Given the description of an element on the screen output the (x, y) to click on. 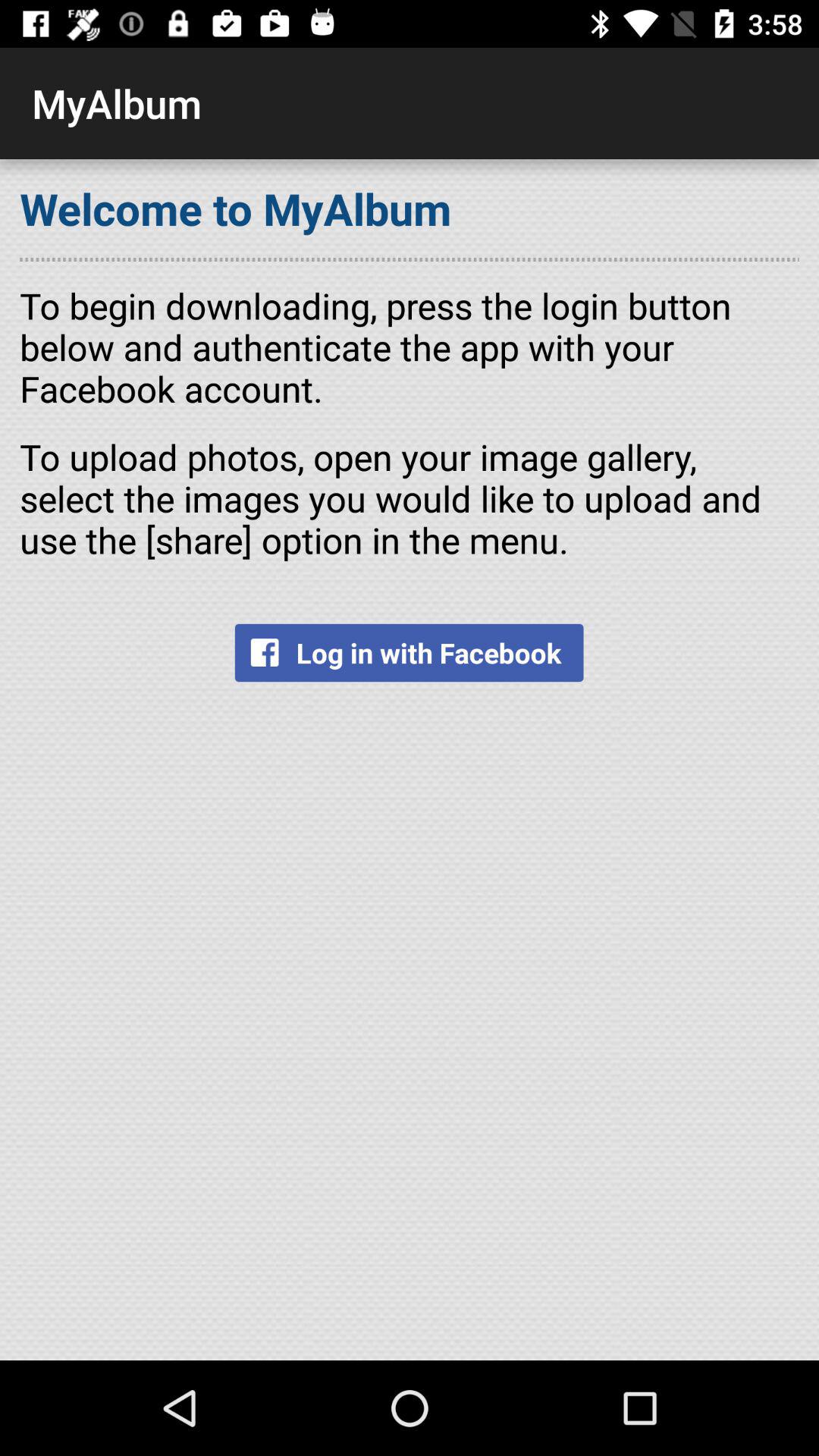
tap the log in with icon (408, 652)
